Given the description of an element on the screen output the (x, y) to click on. 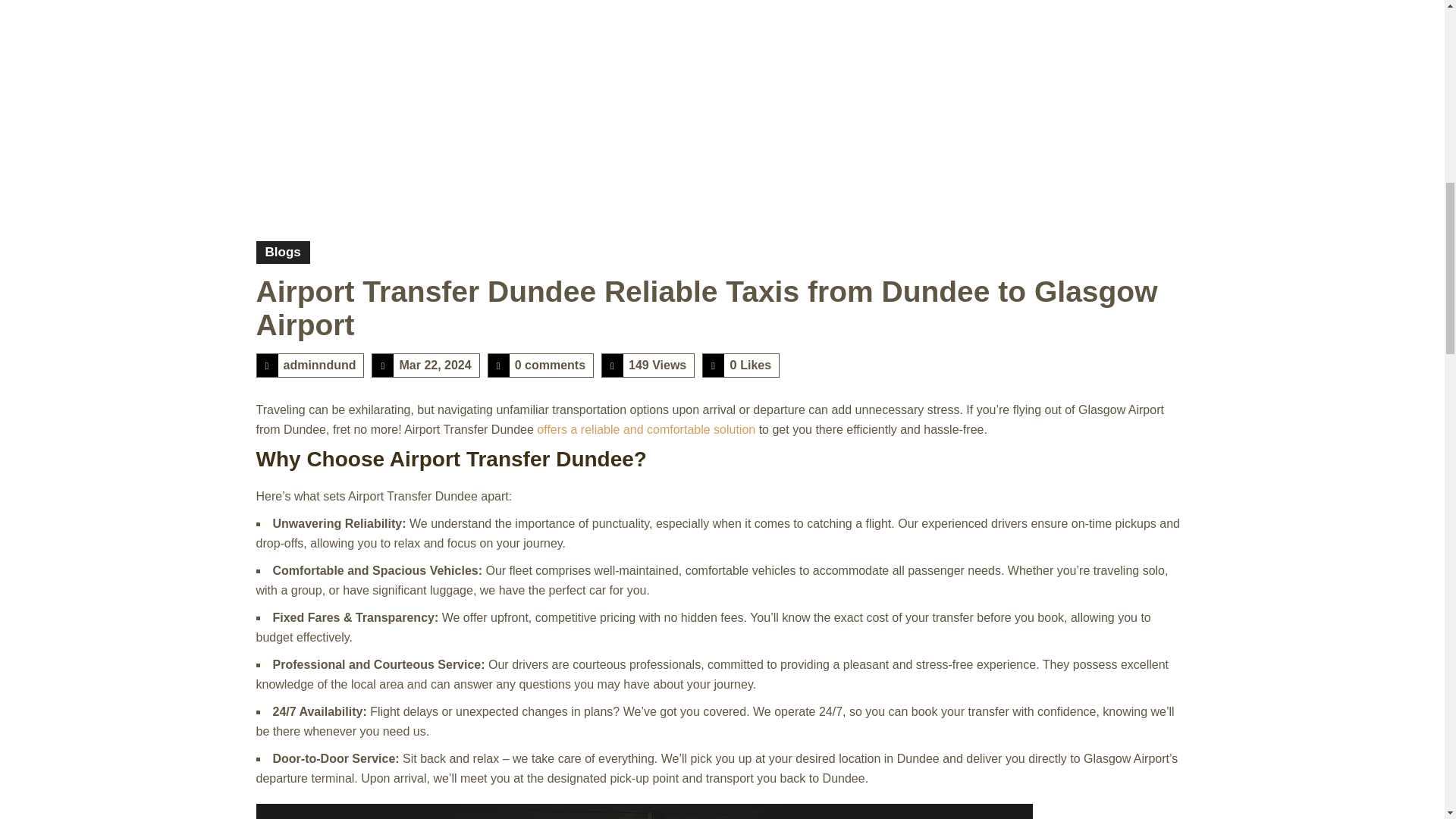
offers a reliable and comfortable solution (646, 429)
0 Likes (750, 364)
adminndund (319, 364)
0 comments (550, 364)
View all posts by adminndund (319, 364)
Blogs (283, 251)
